Given the description of an element on the screen output the (x, y) to click on. 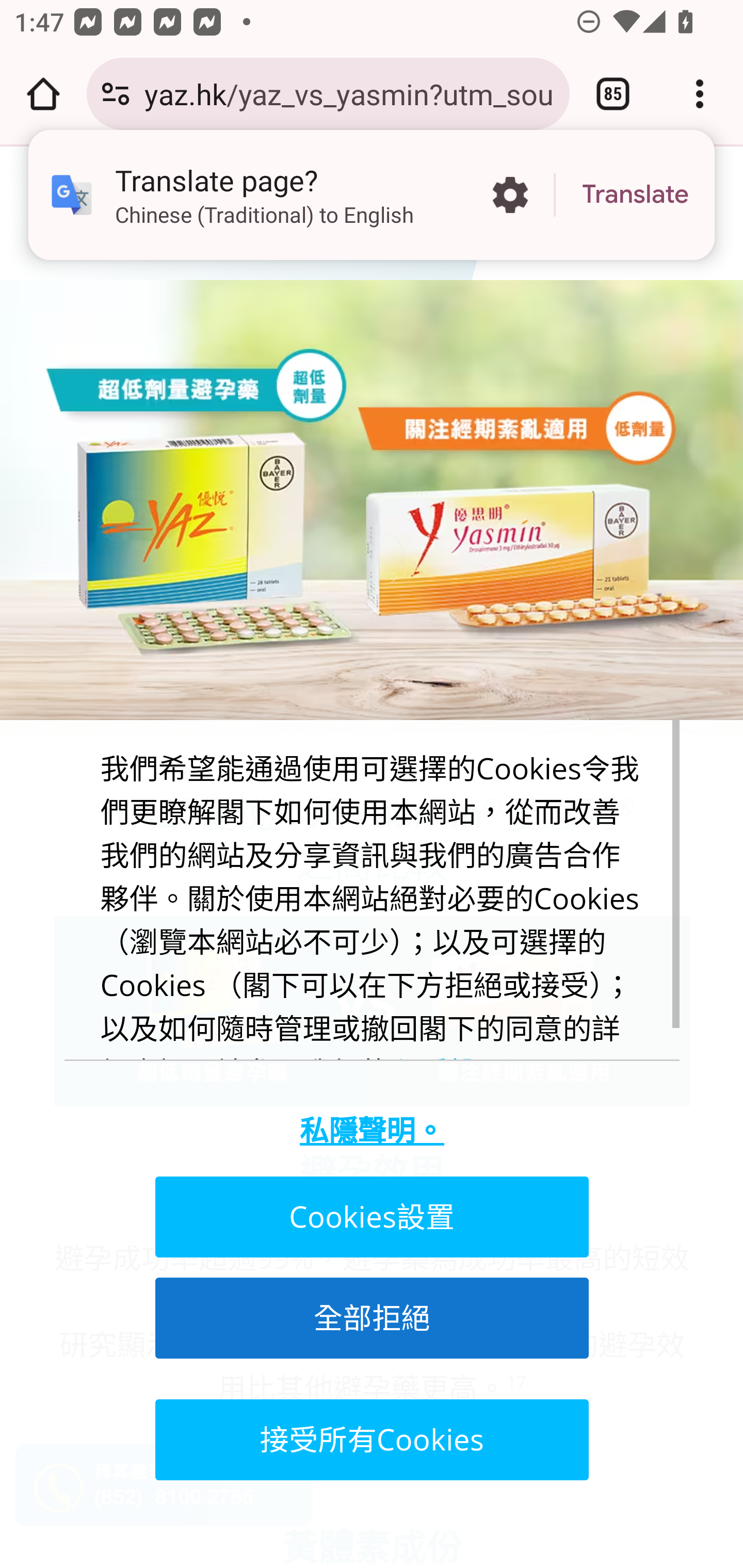
Open the home page (43, 93)
Connection is secure (115, 93)
Switch or close tabs (612, 93)
Customize and control Google Chrome (699, 93)
Translate (634, 195)
More options in the Translate page? (509, 195)
line Toggle burger menu (75, 212)
Cookies設置 (370, 1215)
全部拒絕 (370, 1317)
接受所有Cookies (370, 1439)
